Given the description of an element on the screen output the (x, y) to click on. 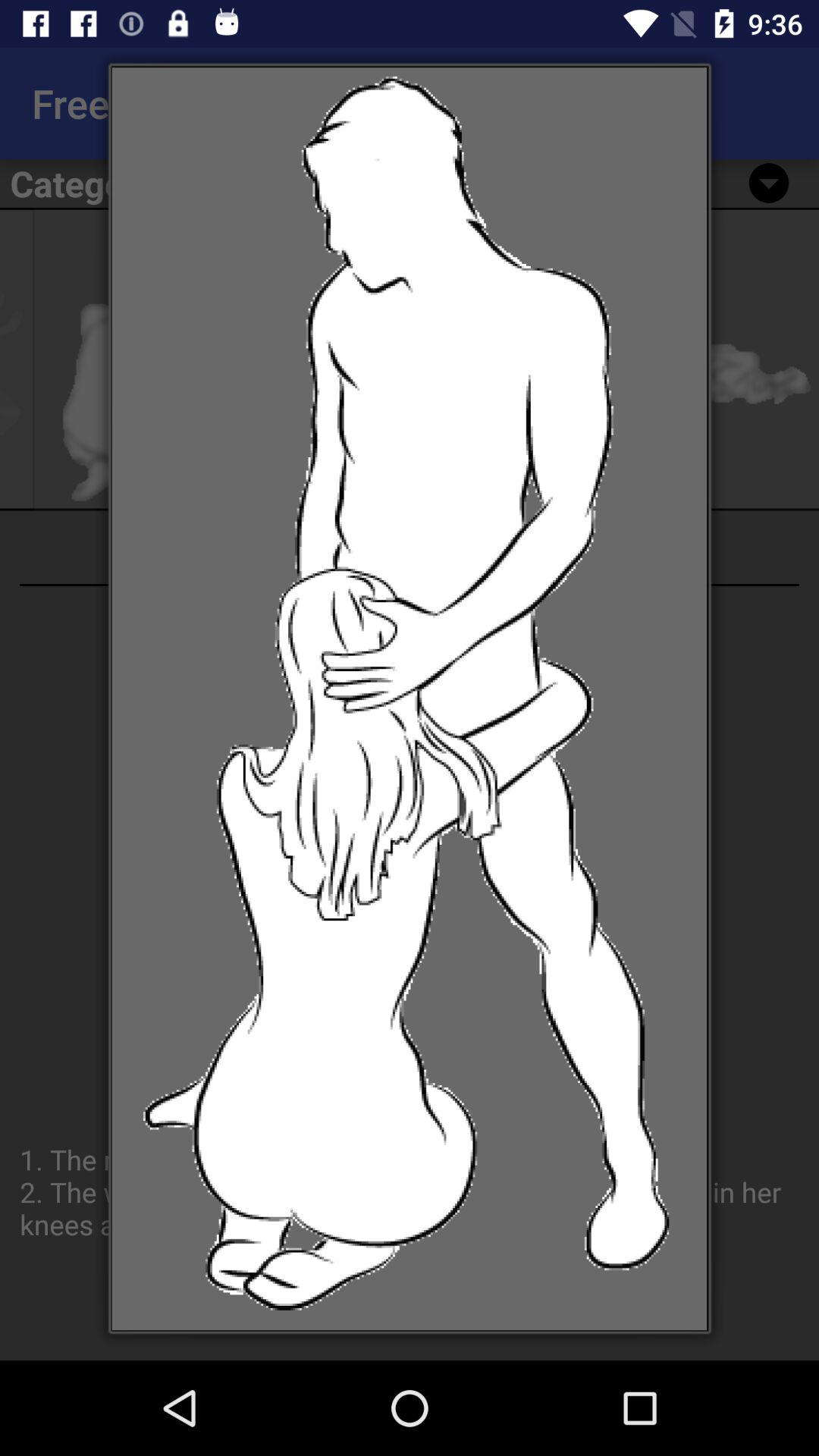
tap icon at the center (409, 698)
